Given the description of an element on the screen output the (x, y) to click on. 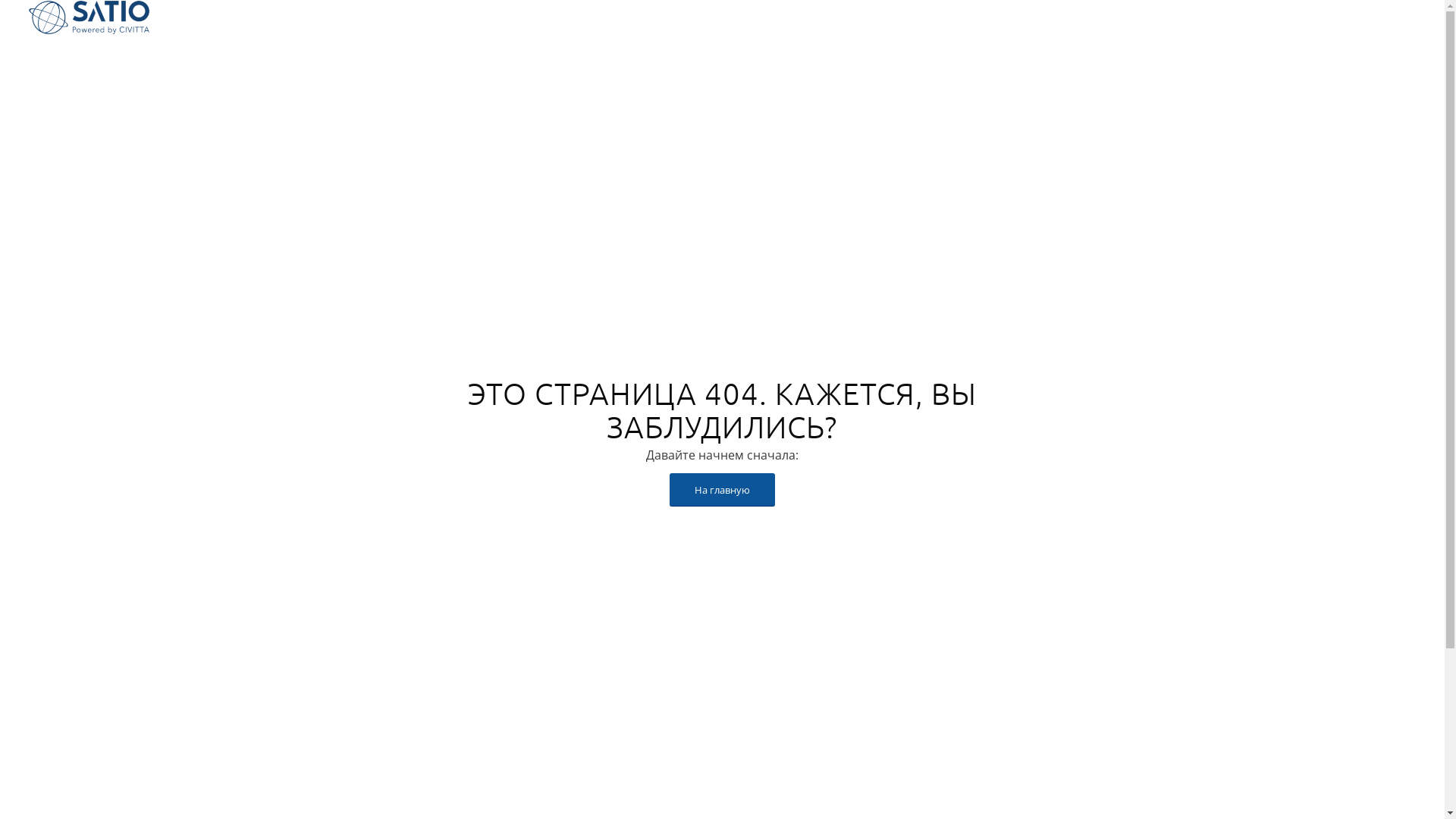
EN Element type: text (1404, 17)
